Given the description of an element on the screen output the (x, y) to click on. 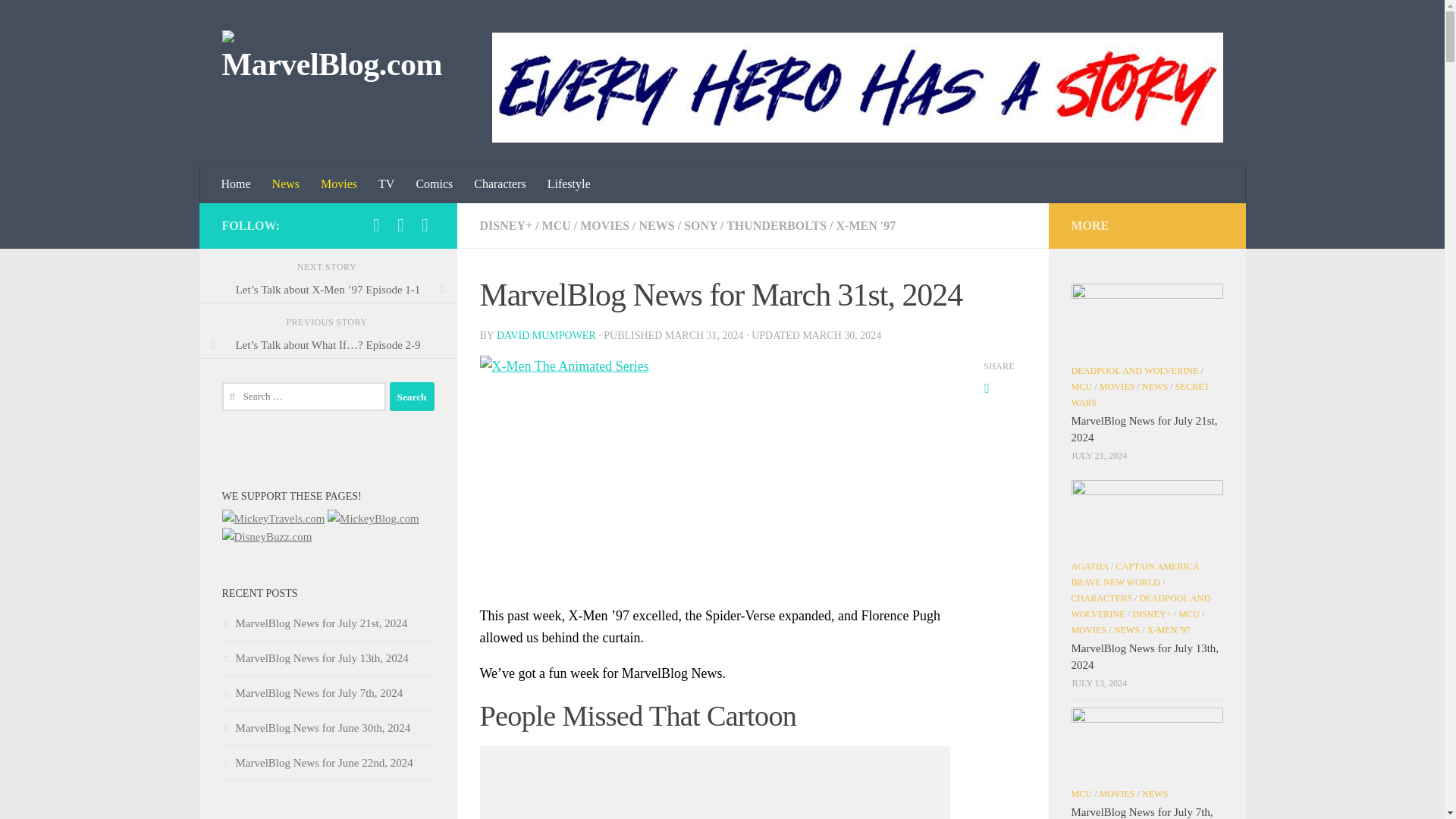
THUNDERBOLTS (776, 225)
News (286, 184)
Lifestyle (569, 184)
Home (236, 184)
Movies (339, 184)
MarvelBlog News for March 31st, 2024 (714, 466)
DAVID MUMPOWER (545, 335)
Skip to content (59, 20)
NEWS (657, 225)
Search (411, 396)
Follow us on Twitter (423, 225)
Search (411, 396)
Comics (433, 184)
MOVIES (603, 225)
Characters (499, 184)
